Given the description of an element on the screen output the (x, y) to click on. 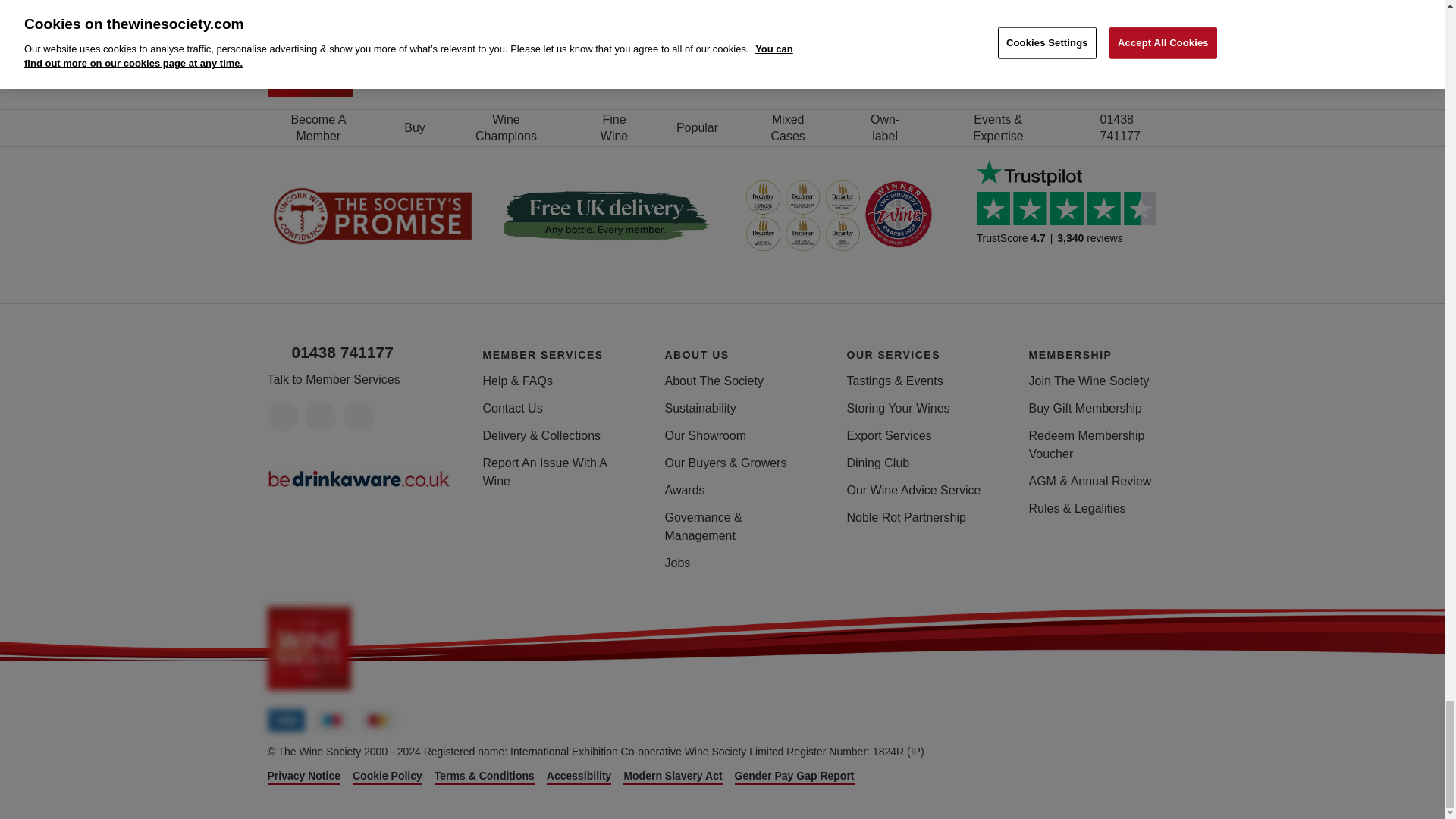
Customer reviews powered by Trustpilot (1071, 215)
Mestro (331, 720)
Visa (285, 720)
Mastercard (377, 720)
